Given the description of an element on the screen output the (x, y) to click on. 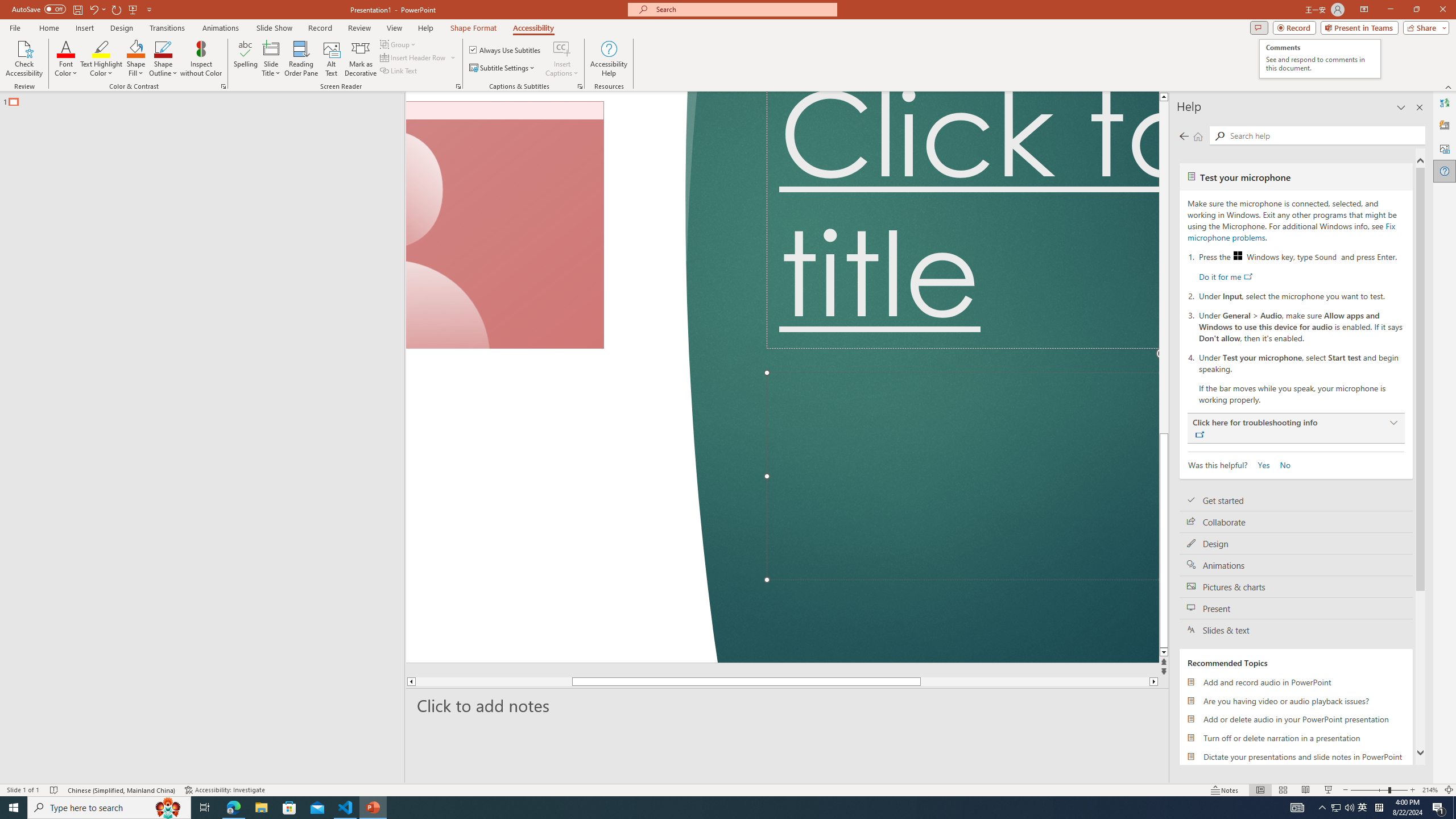
Previous page (1183, 136)
File Tab (15, 27)
Animations (1295, 564)
Slide Notes (787, 705)
Slides & text (1295, 630)
Add or delete audio in your PowerPoint presentation (1295, 719)
Help (1444, 170)
Search (1325, 135)
Translator (1444, 102)
Close (1442, 9)
Shape Outline (163, 58)
Quick Access Toolbar (82, 9)
Outline (207, 99)
Insert Header Row (413, 56)
